Given the description of an element on the screen output the (x, y) to click on. 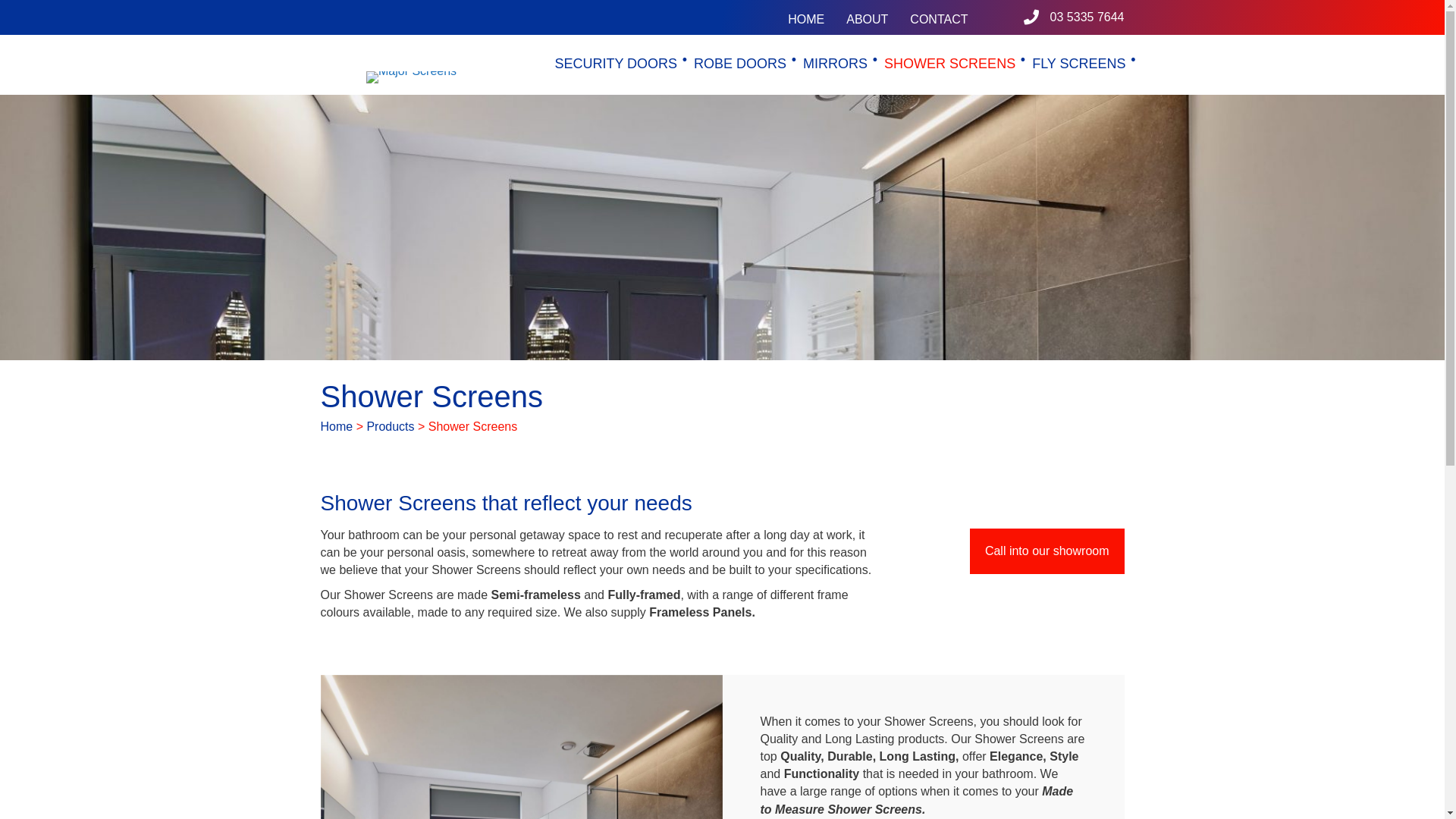
SHOWER SCREENS Element type: text (948, 62)
Home Element type: text (336, 426)
HOME Element type: text (805, 19)
ROBE DOORS Element type: text (738, 62)
Call into our showroom Element type: text (1046, 550)
FLY SCREENS Element type: text (1077, 62)
Major Screens Element type: hover (411, 77)
ABOUT Element type: text (866, 19)
03 5335 7644 Element type: text (1087, 16)
MIRRORS Element type: text (834, 62)
CONTACT Element type: text (938, 19)
Products Element type: text (390, 426)
SECURITY DOORS Element type: text (614, 62)
